Given the description of an element on the screen output the (x, y) to click on. 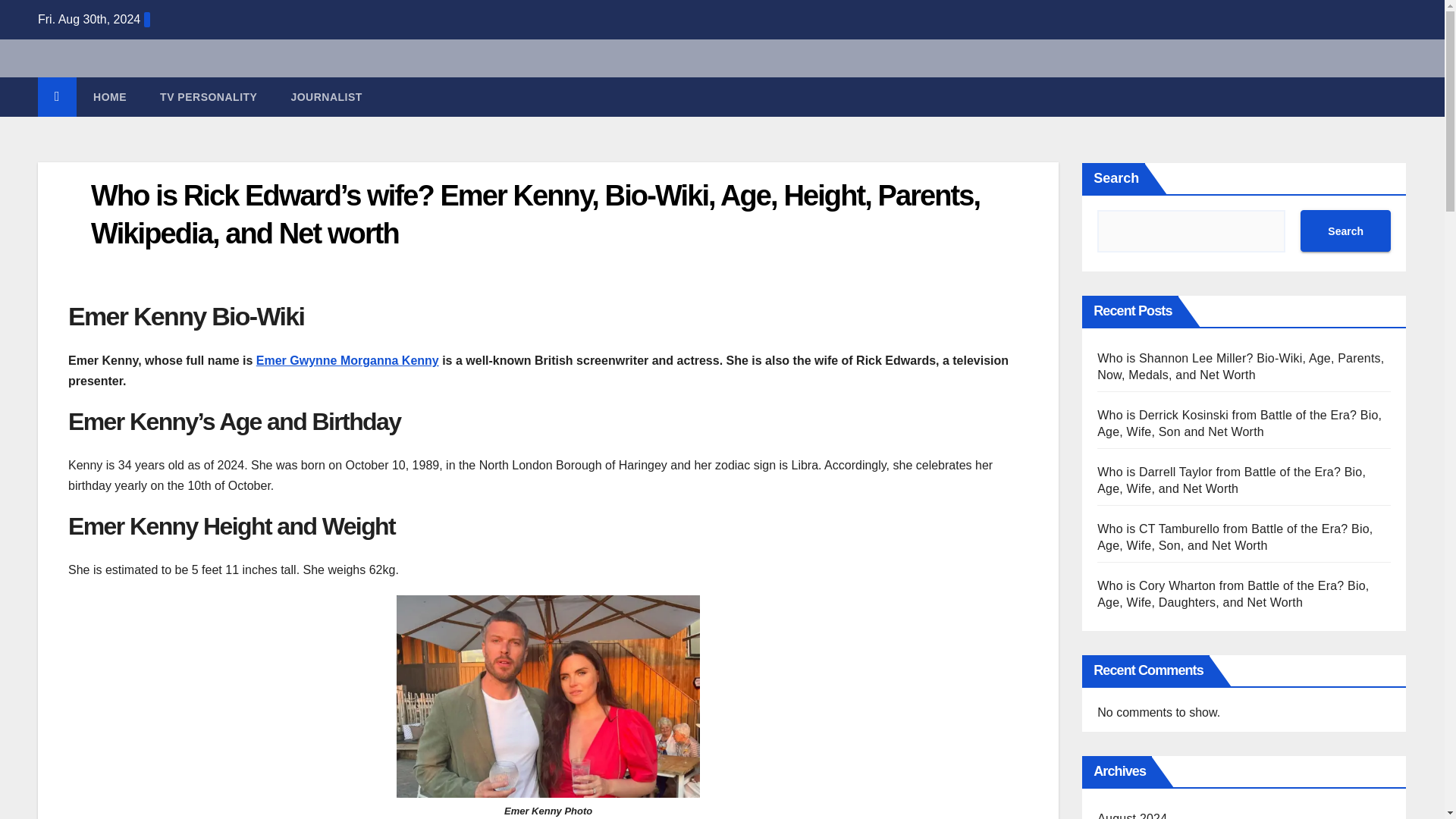
Journalist (325, 96)
Home (109, 96)
TV PERSONALITY (207, 96)
TV Personality (207, 96)
Emer Gwynne Morganna Kenny (347, 359)
Search (1345, 230)
JOURNALIST (325, 96)
